Given the description of an element on the screen output the (x, y) to click on. 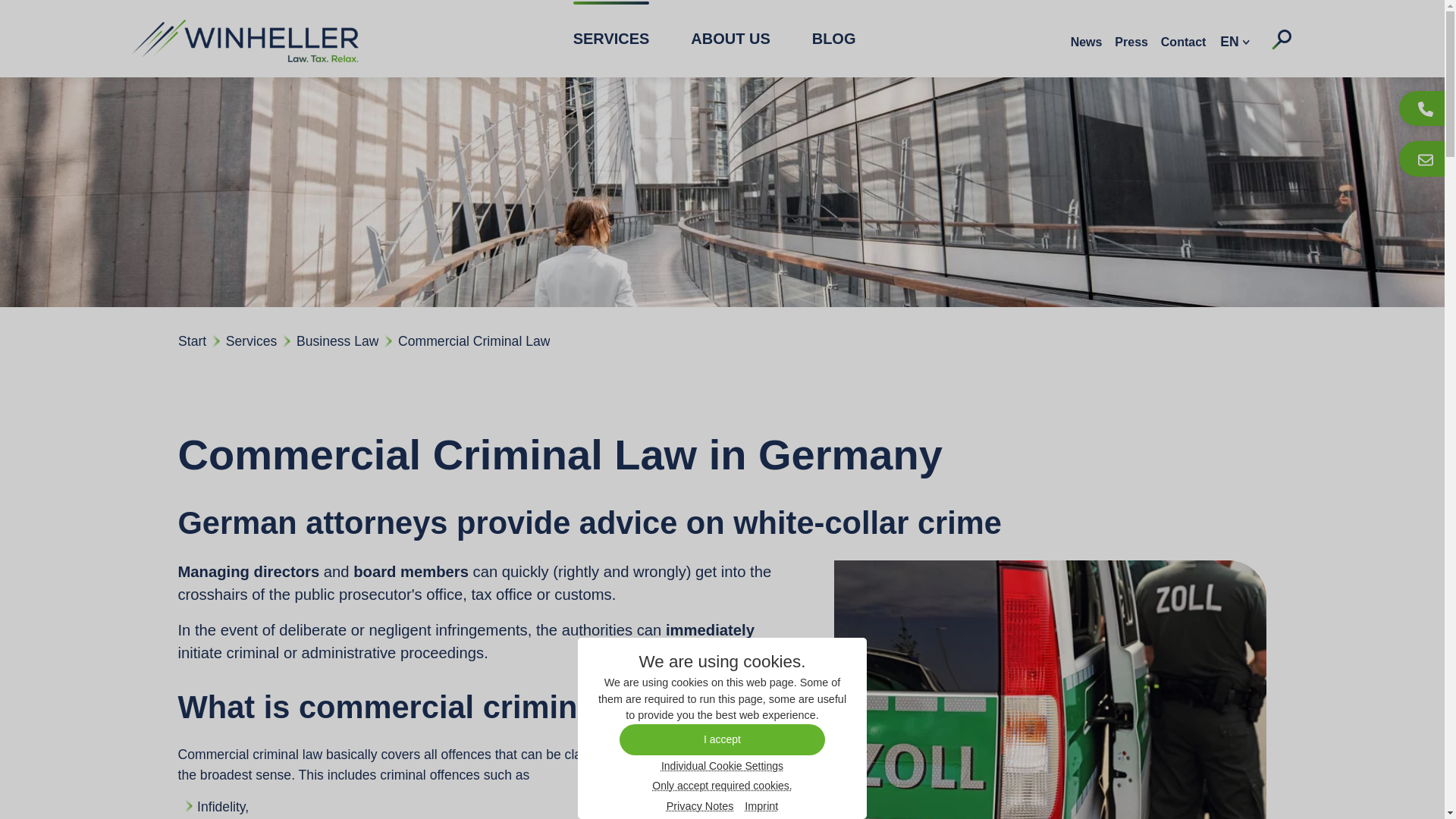
Individual Cookie Settings (722, 765)
SERVICES (611, 38)
Imprint (760, 806)
Only accept required cookies. (720, 785)
Our Law and Tax Services in Germany (611, 38)
I accept (722, 739)
Winheller.com (244, 37)
Privacy Notes (699, 806)
ABOUT US (730, 38)
